Given the description of an element on the screen output the (x, y) to click on. 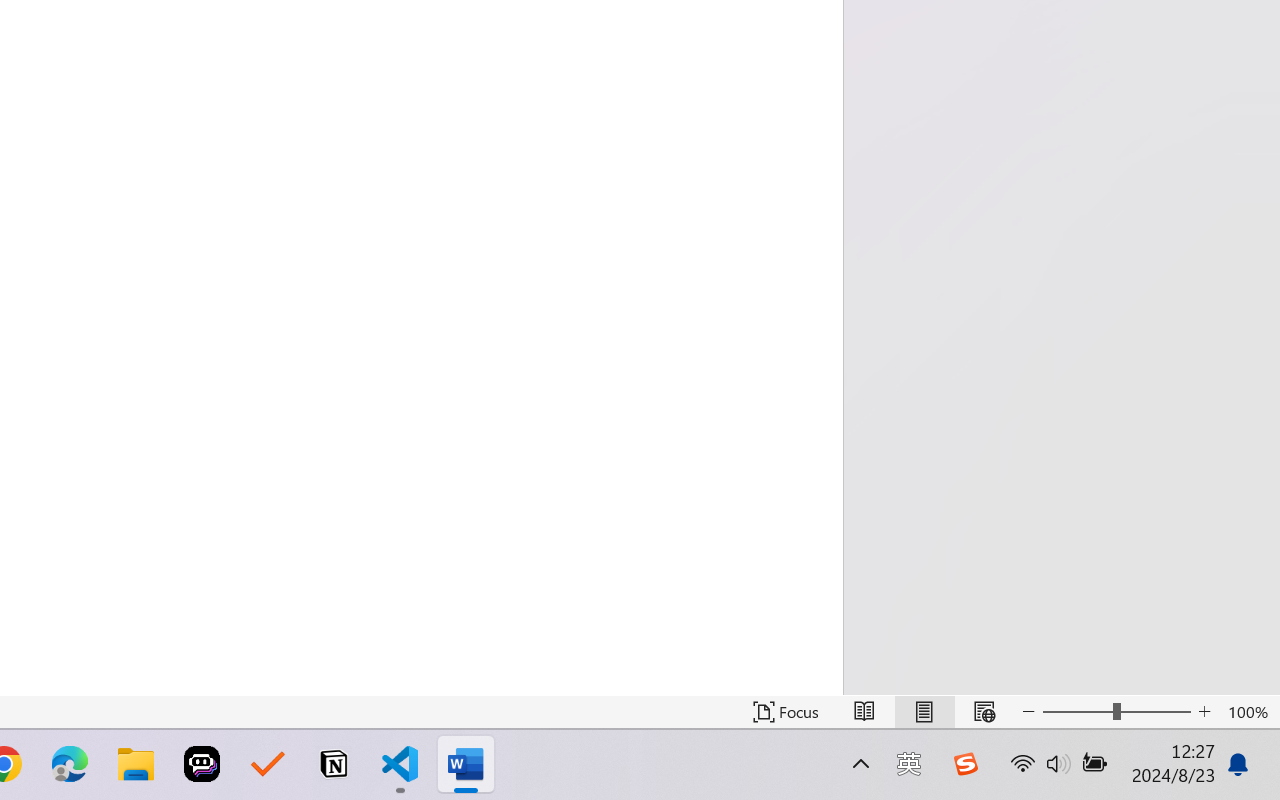
Zoom 100% (1249, 712)
